Given the description of an element on the screen output the (x, y) to click on. 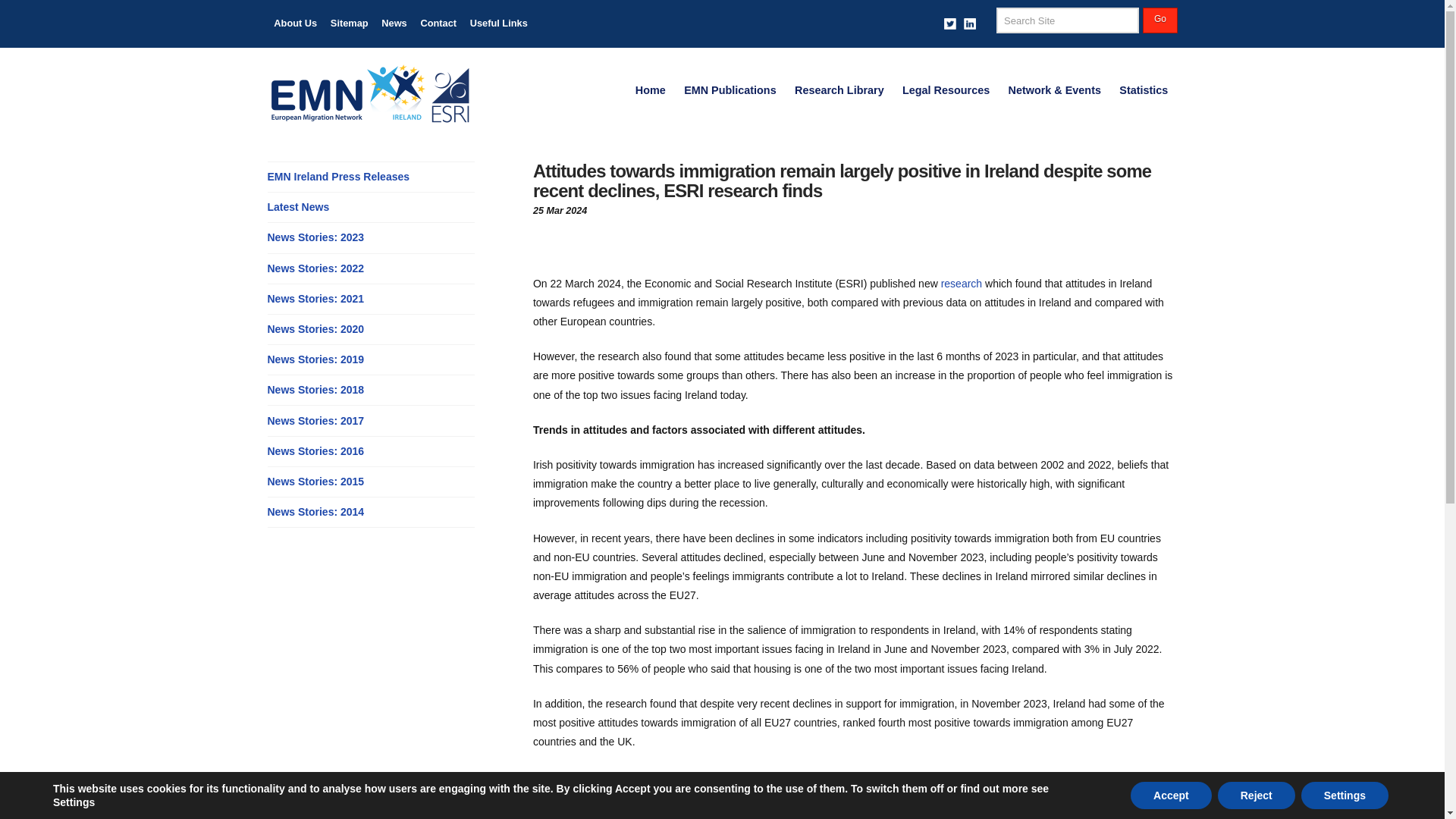
Useful Links (498, 23)
About Us (294, 23)
Go (1159, 20)
News Stories: 2022 (315, 268)
News Stories: 2020 (315, 329)
Home (650, 90)
EMN Publications (730, 90)
Research Library (839, 90)
News Stories: 2014 (315, 512)
Legal Resources (945, 90)
